Given the description of an element on the screen output the (x, y) to click on. 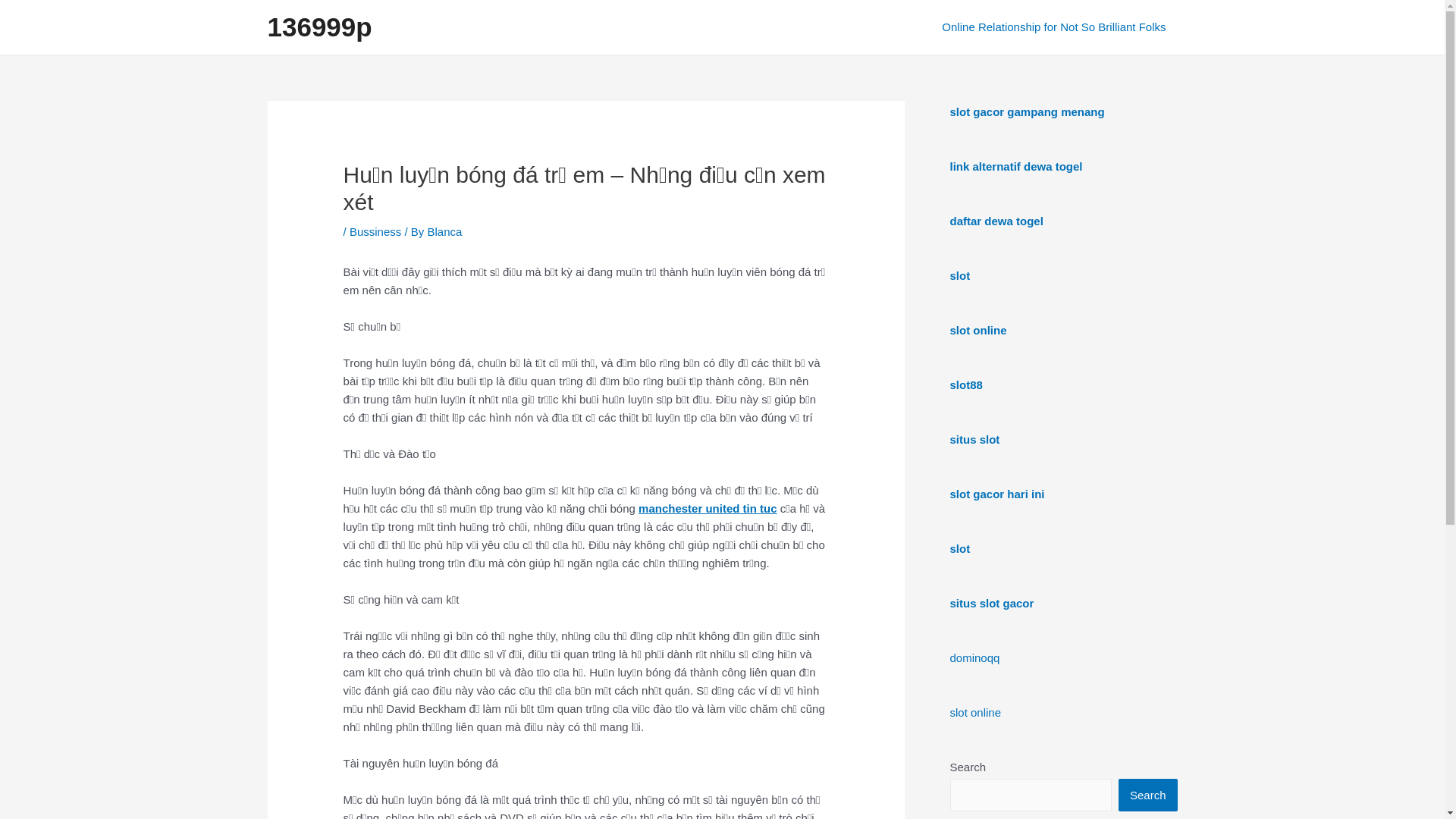
slot online Element type: text (977, 329)
Online Relationship for Not So Brilliant Folks Element type: text (1053, 26)
136999p Element type: text (318, 26)
dominoqq Element type: text (974, 657)
Search Element type: text (1147, 794)
manchester united tin tuc Element type: text (707, 508)
daftar dewa togel Element type: text (995, 220)
slot gacor gampang menang Element type: text (1026, 111)
slot88 Element type: text (965, 384)
slot Element type: text (959, 275)
slot gacor hari ini Element type: text (996, 493)
slot Element type: text (959, 548)
Bussiness Element type: text (375, 231)
slot online Element type: text (975, 712)
situs slot Element type: text (974, 439)
link alternatif dewa togel Element type: text (1015, 166)
situs slot gacor Element type: text (991, 602)
Blanca Element type: text (443, 231)
